Given the description of an element on the screen output the (x, y) to click on. 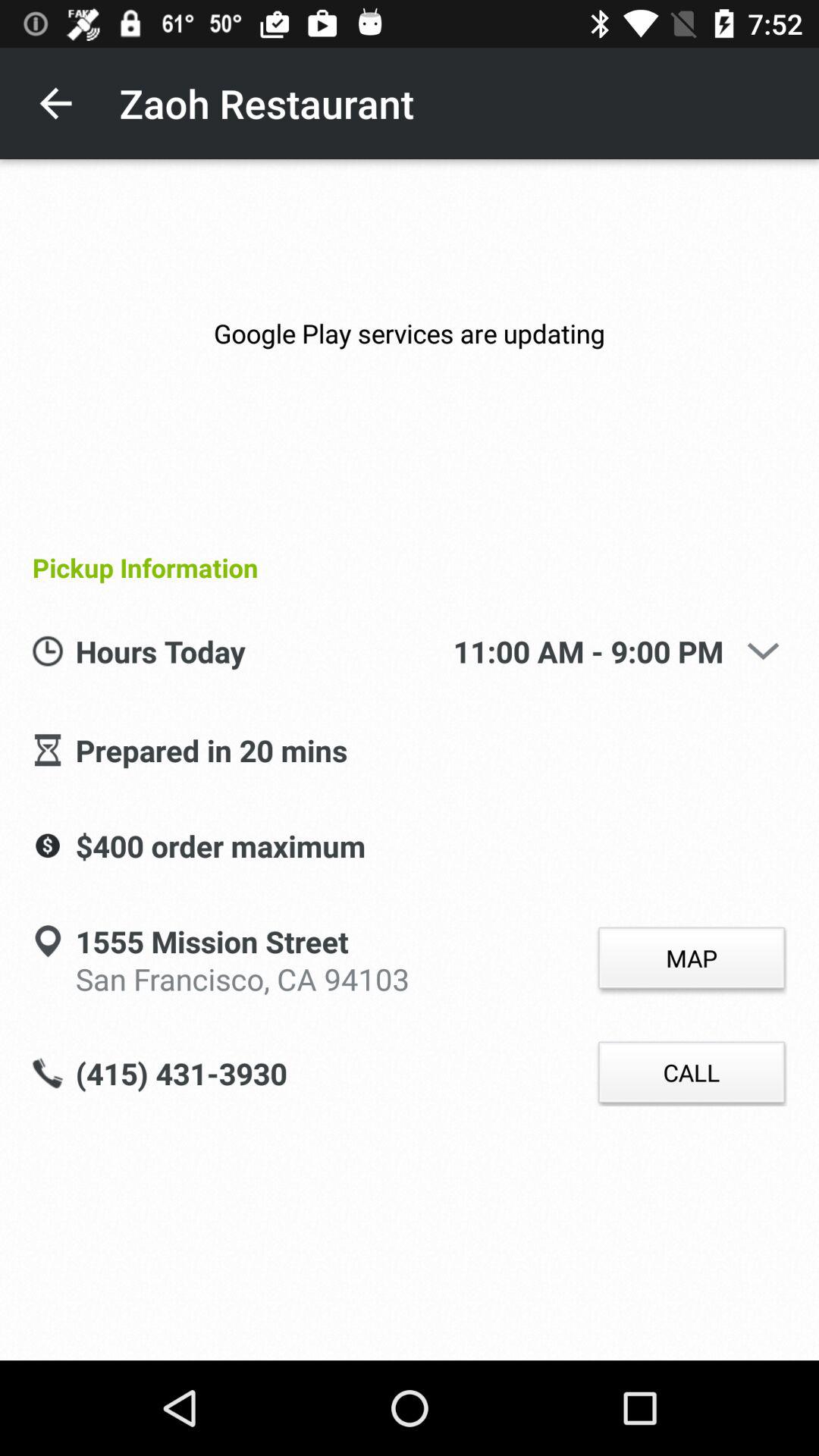
press the icon above the (415) 431-3930 item (242, 976)
